Given the description of an element on the screen output the (x, y) to click on. 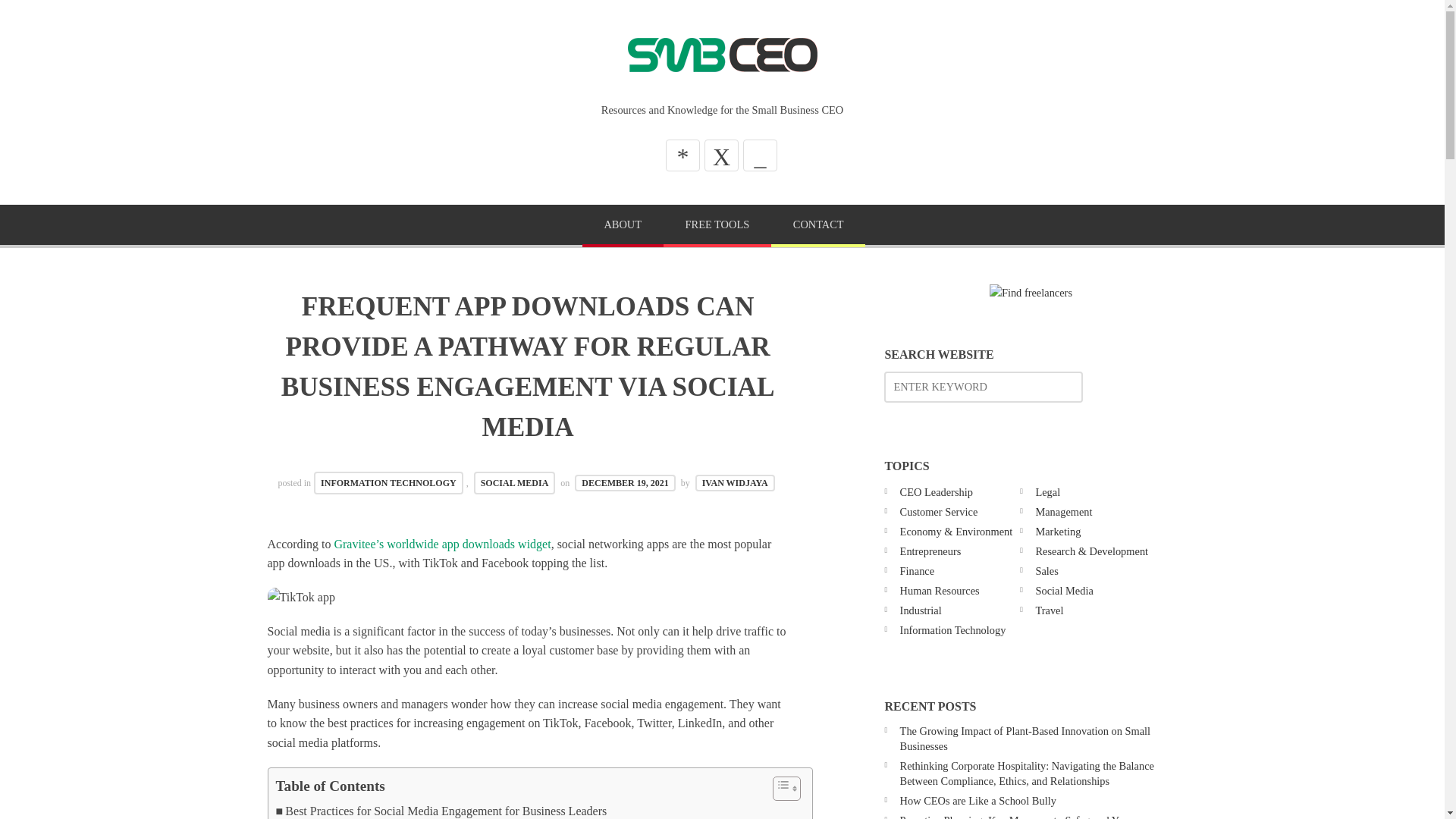
5:28 am (625, 483)
X (721, 155)
ABOUT (622, 225)
IVAN WIDJAYA (734, 483)
SOCIAL MEDIA (515, 483)
FREE TOOLS (717, 225)
INFORMATION TECHNOLOGY (388, 483)
View all posts by Ivan Widjaya (734, 483)
DECEMBER 19, 2021 (625, 483)
